Given the description of an element on the screen output the (x, y) to click on. 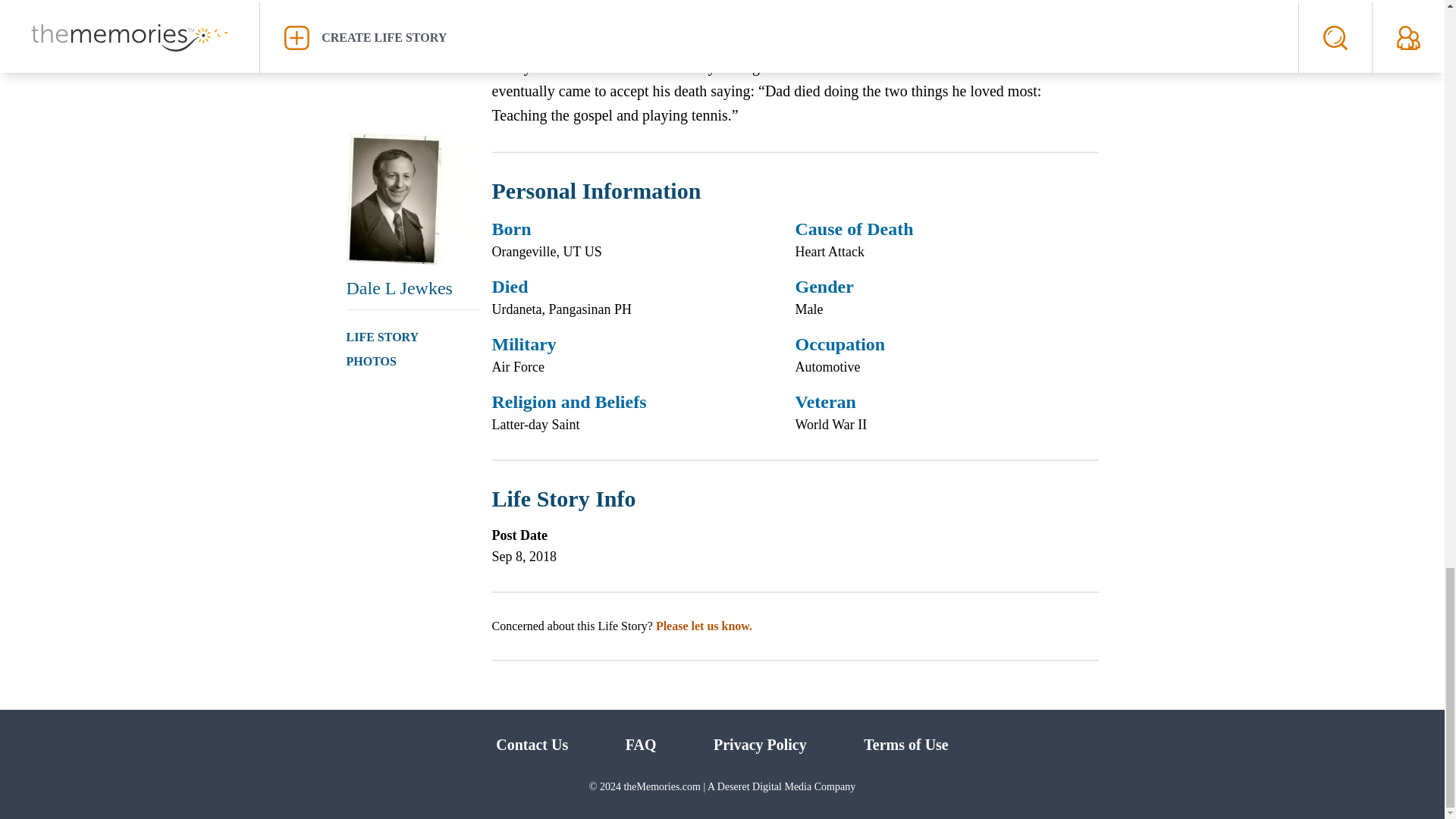
Please let us know. (704, 625)
Privacy Policy (759, 744)
Terms of Use (905, 744)
Contact Us (531, 744)
FAQ (641, 744)
